Given the description of an element on the screen output the (x, y) to click on. 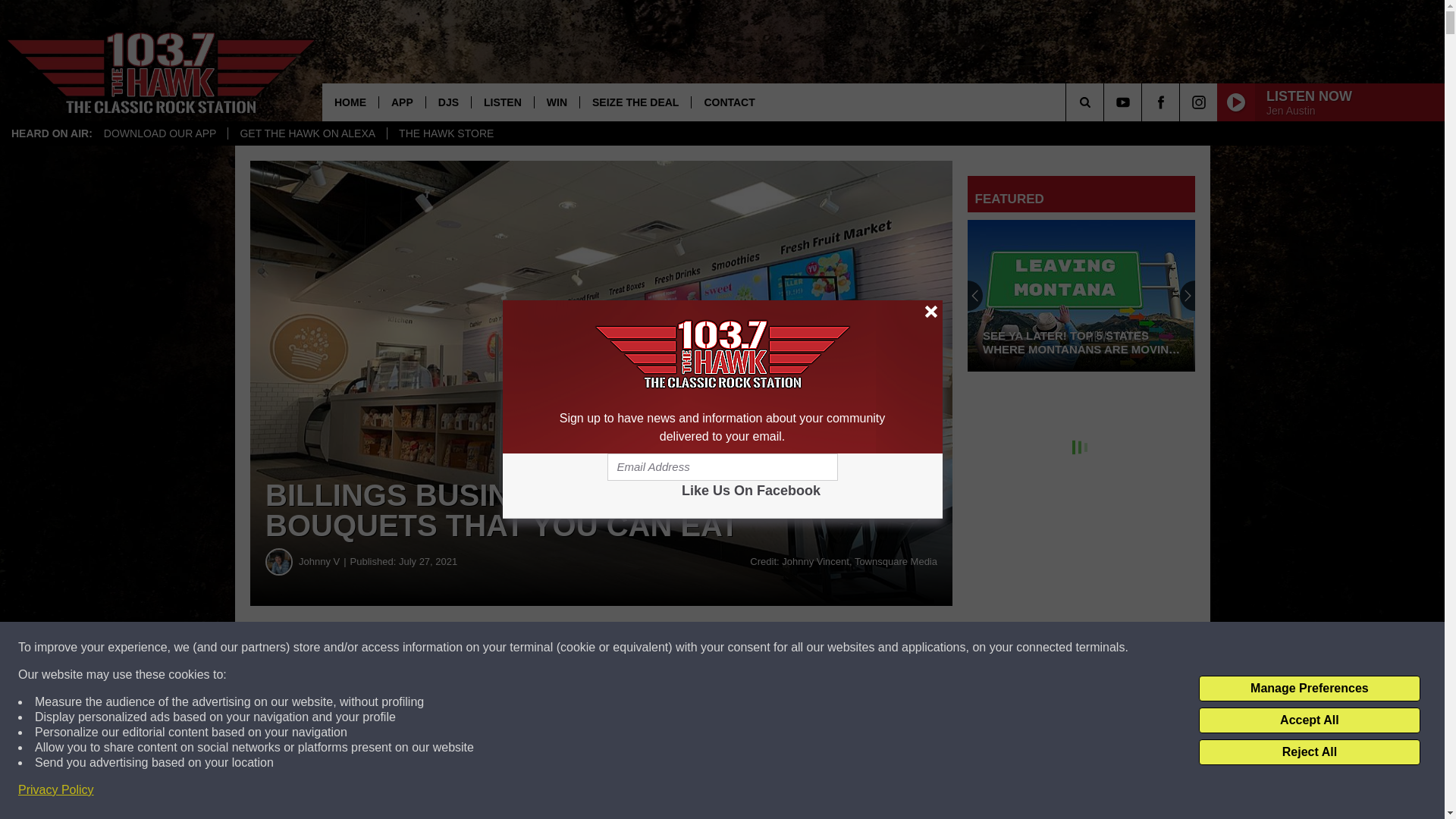
Manage Preferences (1309, 688)
CONTACT (728, 102)
Share on Facebook (460, 647)
DJS (447, 102)
Accept All (1309, 720)
THE HAWK STORE (446, 133)
SEIZE THE DEAL (634, 102)
DOWNLOAD OUR APP (160, 133)
Email Address (722, 466)
Share on Twitter (741, 647)
GET THE HAWK ON ALEXA (307, 133)
APP (401, 102)
Reject All (1309, 751)
WIN (556, 102)
SEARCH (1106, 102)
